Given the description of an element on the screen output the (x, y) to click on. 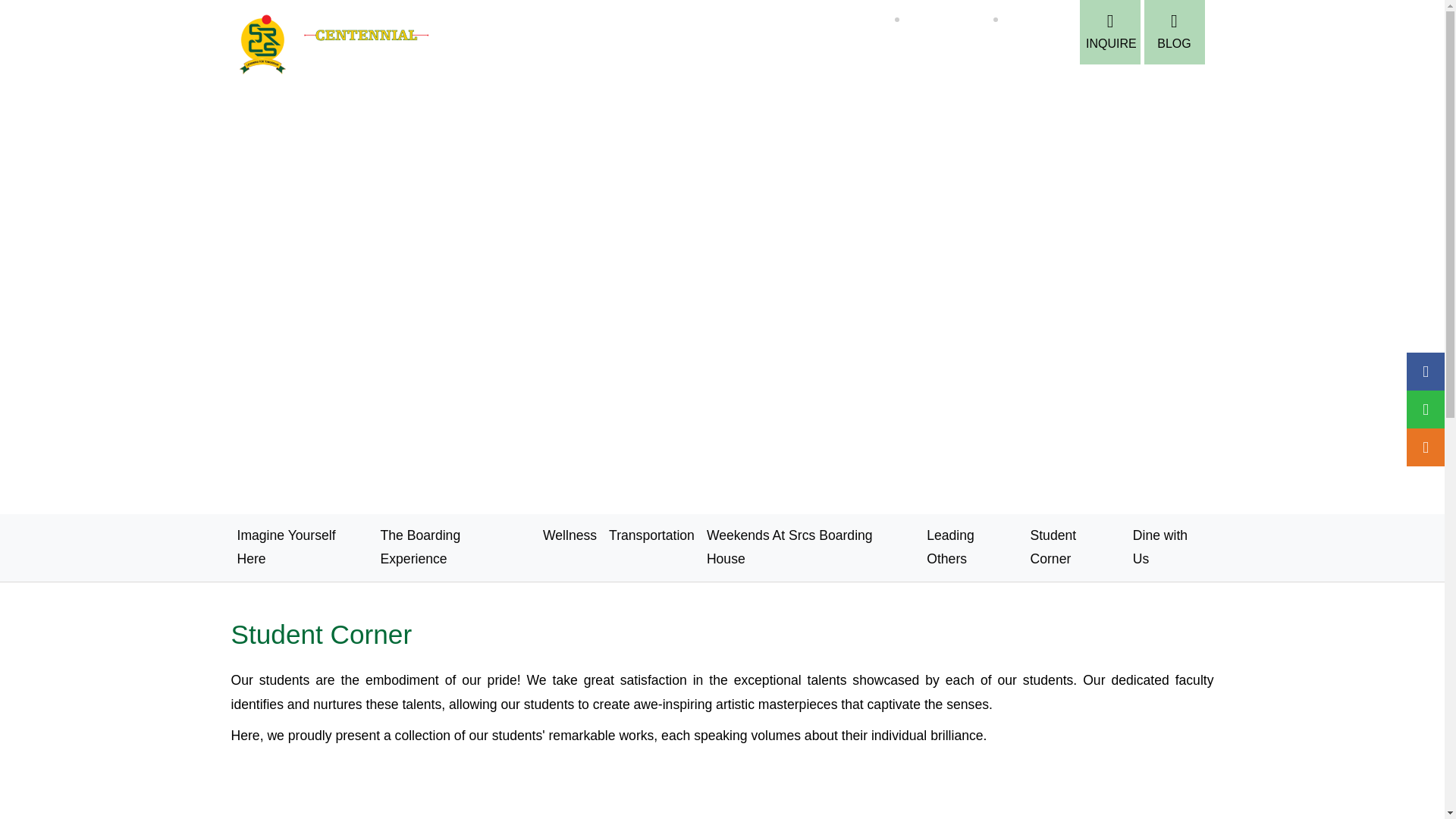
LOGIN (933, 50)
ADMISSIONS (691, 85)
Blog (1173, 32)
ABOUT US (600, 85)
Boarding (865, 18)
Day Boarding (1038, 18)
CALENDAR (1000, 50)
LOGIN (933, 50)
BLOG (1173, 32)
CALENDAR (1000, 50)
